Given the description of an element on the screen output the (x, y) to click on. 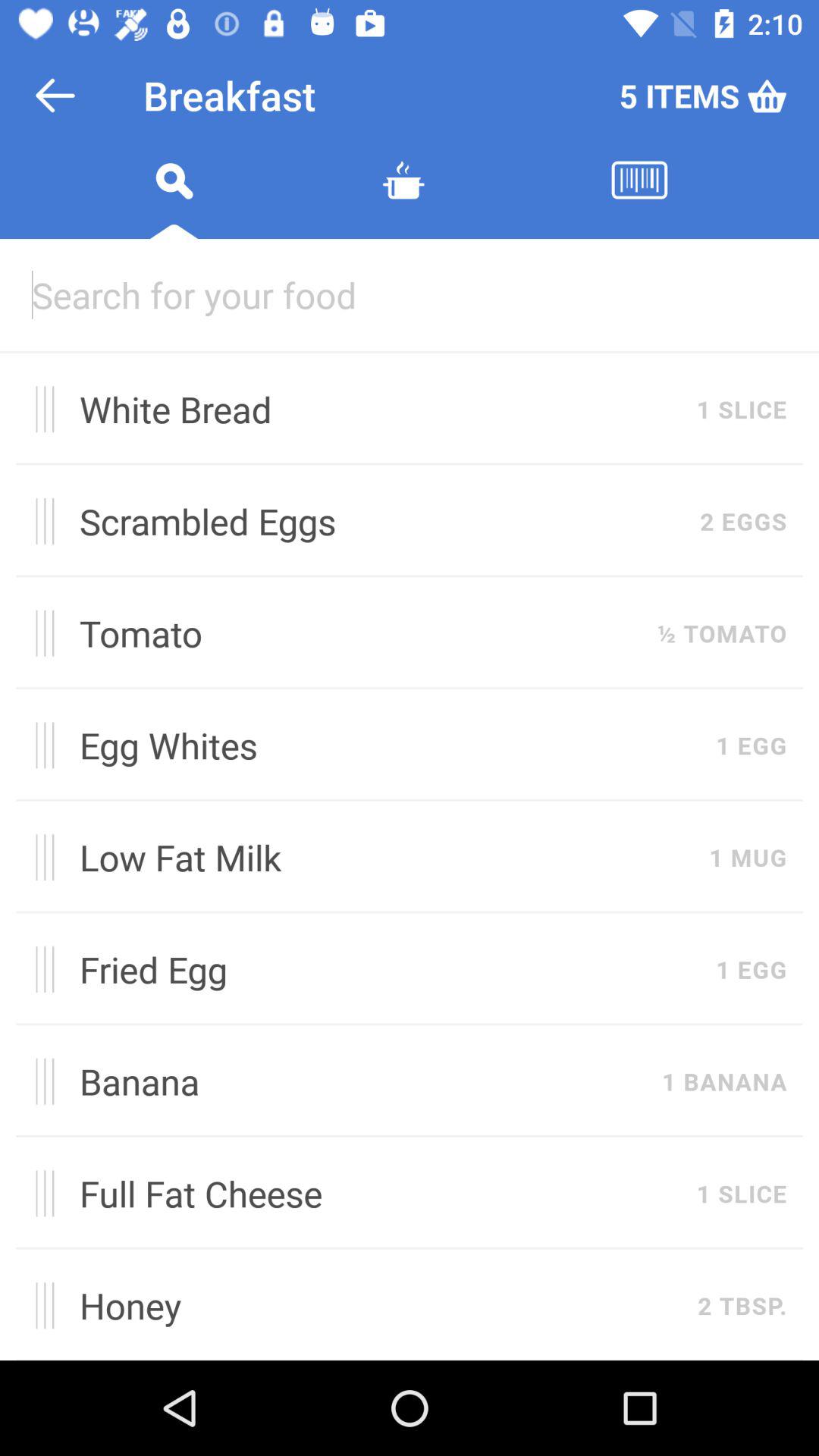
swipe to the low fat milk (385, 857)
